Given the description of an element on the screen output the (x, y) to click on. 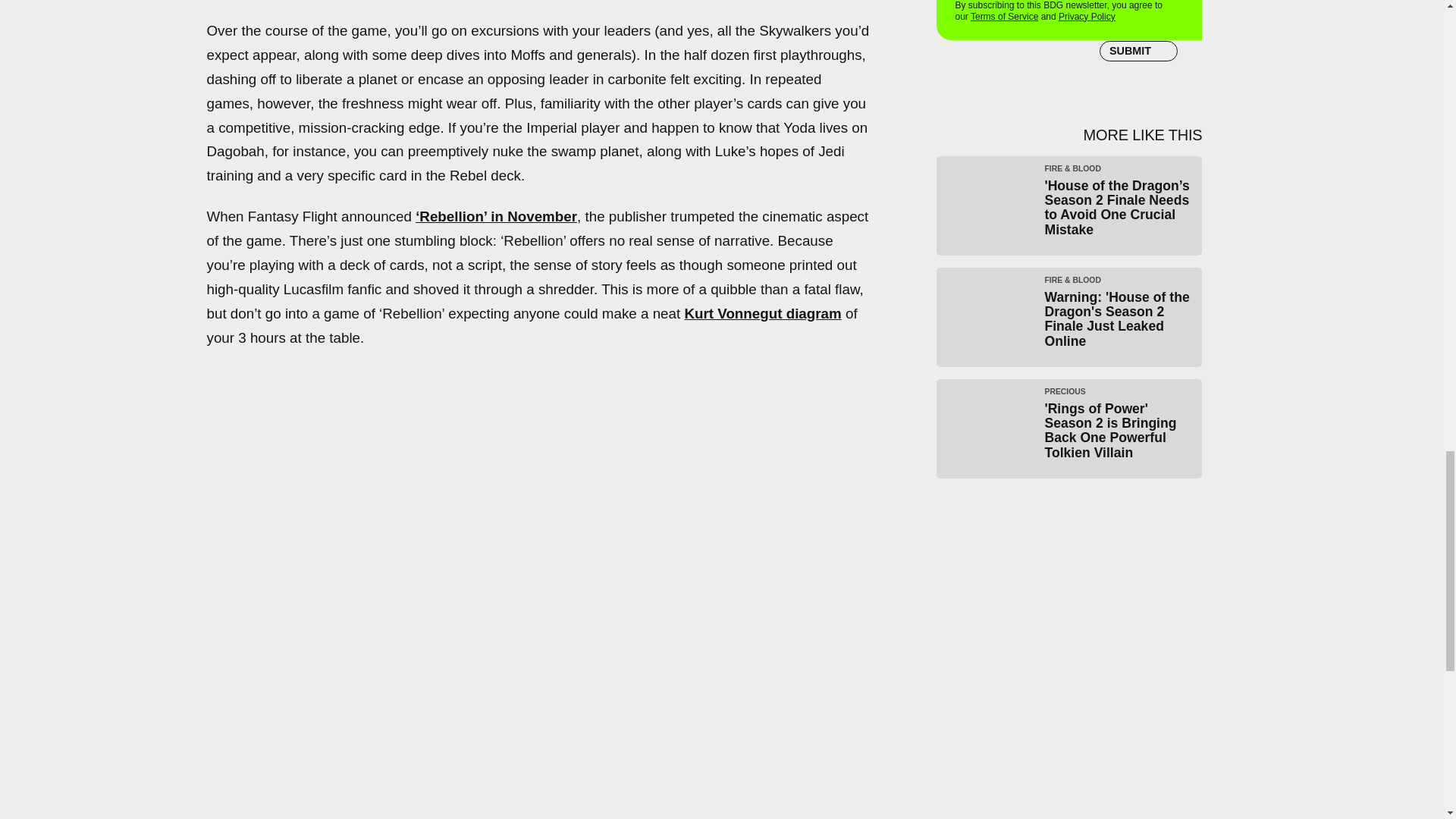
SUBMIT (1138, 51)
Privacy Policy (1086, 16)
Terms of Service (1004, 16)
Kurt Vonnegut diagram (762, 313)
